Given the description of an element on the screen output the (x, y) to click on. 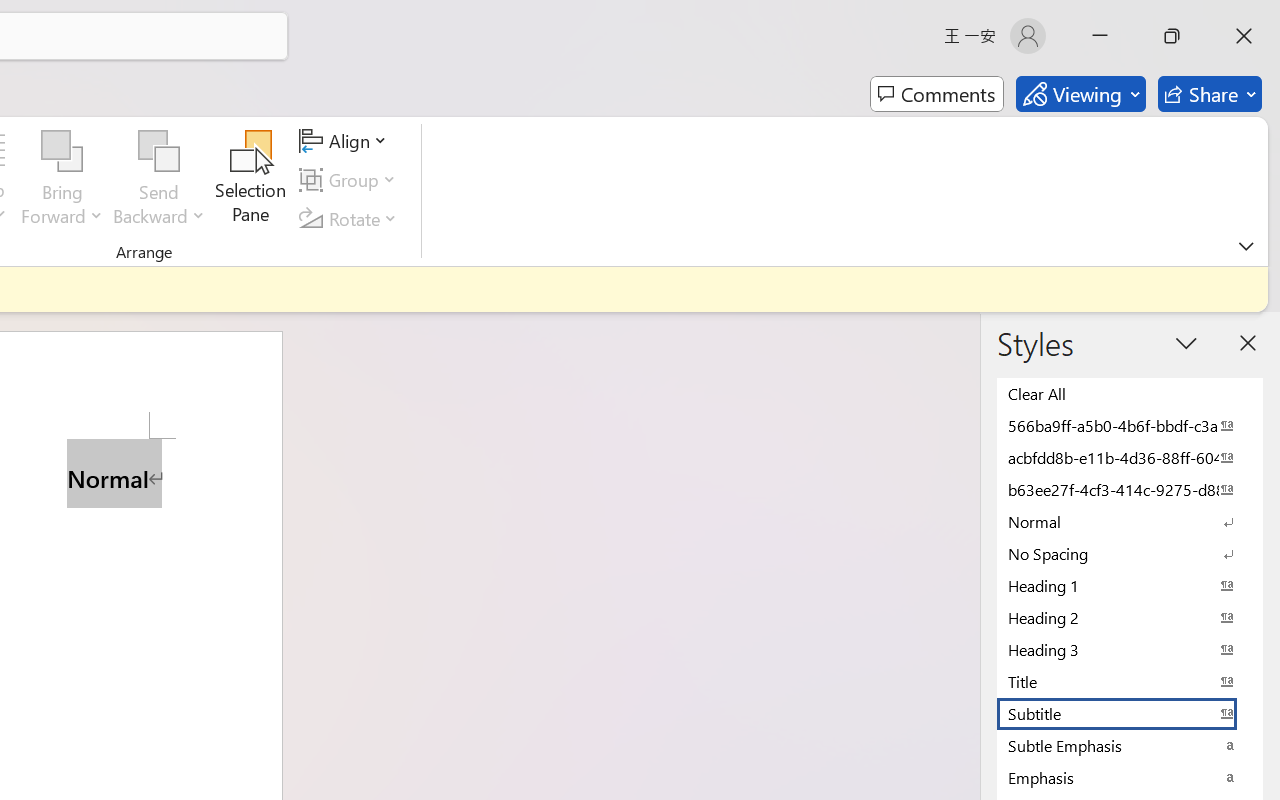
Rotate (351, 218)
Heading 3 (1130, 649)
Bring Forward (62, 179)
Align (346, 141)
Normal (1130, 521)
Heading 2 (1130, 617)
No Spacing (1130, 553)
acbfdd8b-e11b-4d36-88ff-6049b138f862 (1130, 457)
Ribbon Display Options (1246, 245)
Subtitle (1130, 713)
Emphasis (1130, 777)
